Given the description of an element on the screen output the (x, y) to click on. 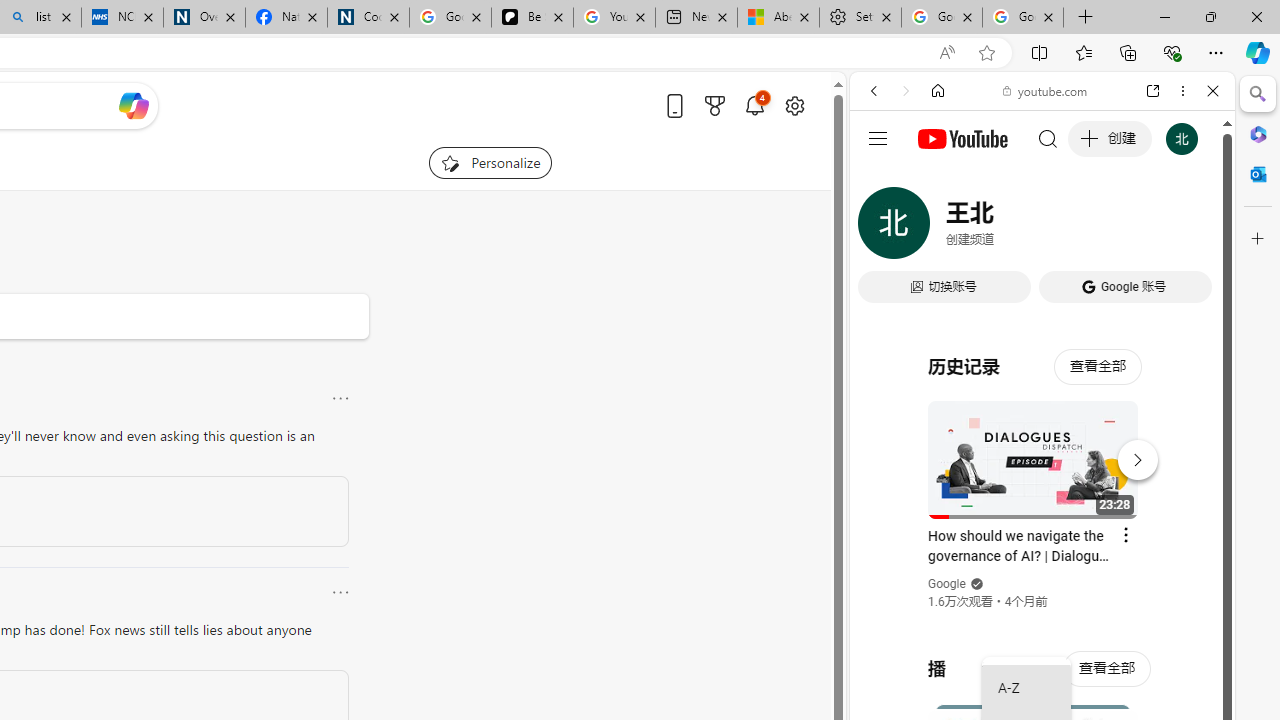
Personalize your feed" (489, 162)
A-Z (1026, 688)
